Given the description of an element on the screen output the (x, y) to click on. 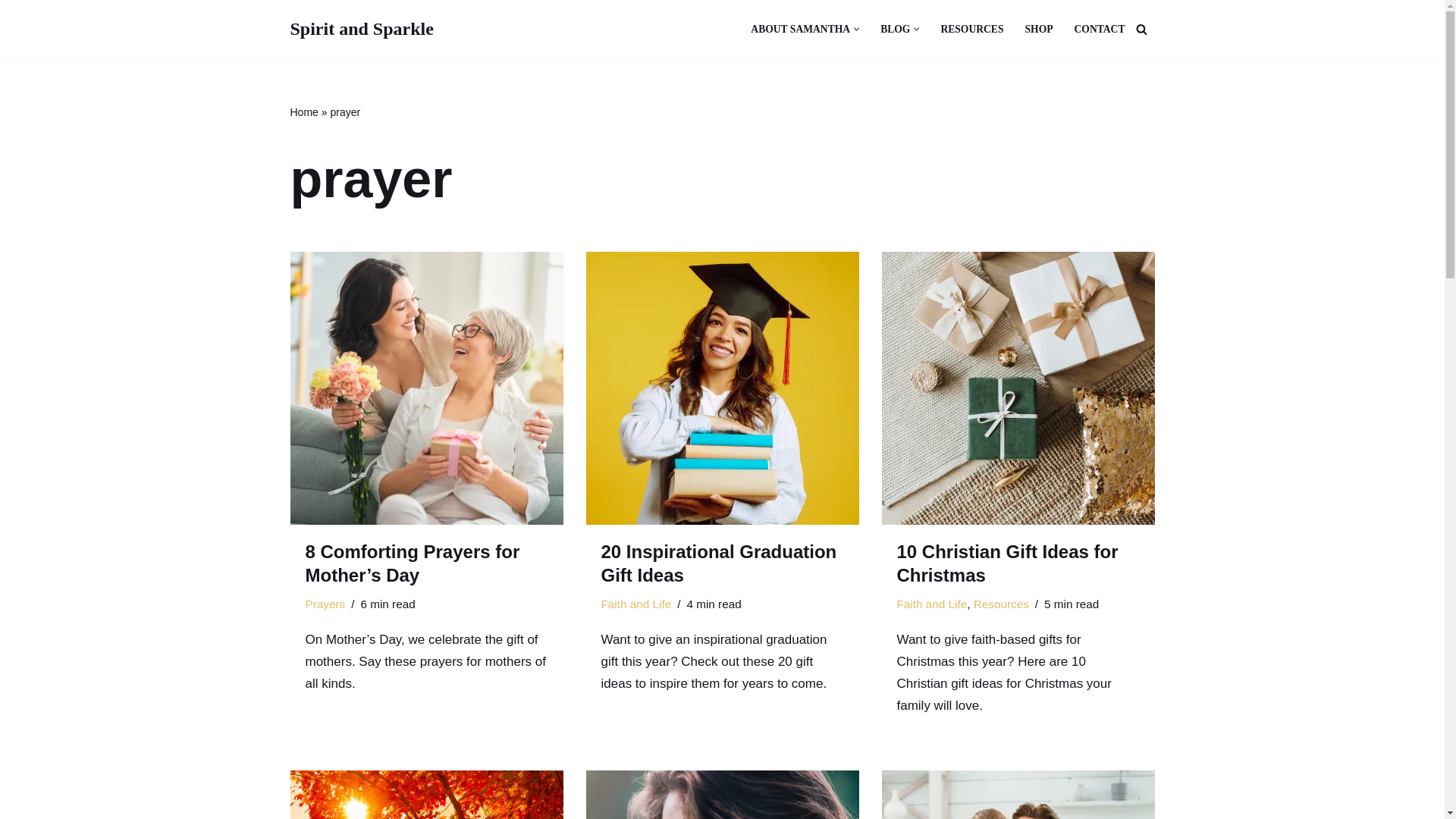
Skip to content (11, 31)
BLOG (895, 28)
SHOP (1038, 28)
ABOUT SAMANTHA (800, 28)
Prayers (324, 603)
CONTACT (1099, 28)
The Start of the Holiday Season (425, 794)
10 Essential Catholic Prayers (722, 794)
10 Christian Gift Ideas for Christmas (1017, 387)
20 Inspirational Graduation Gift Ideas (722, 387)
